Given the description of an element on the screen output the (x, y) to click on. 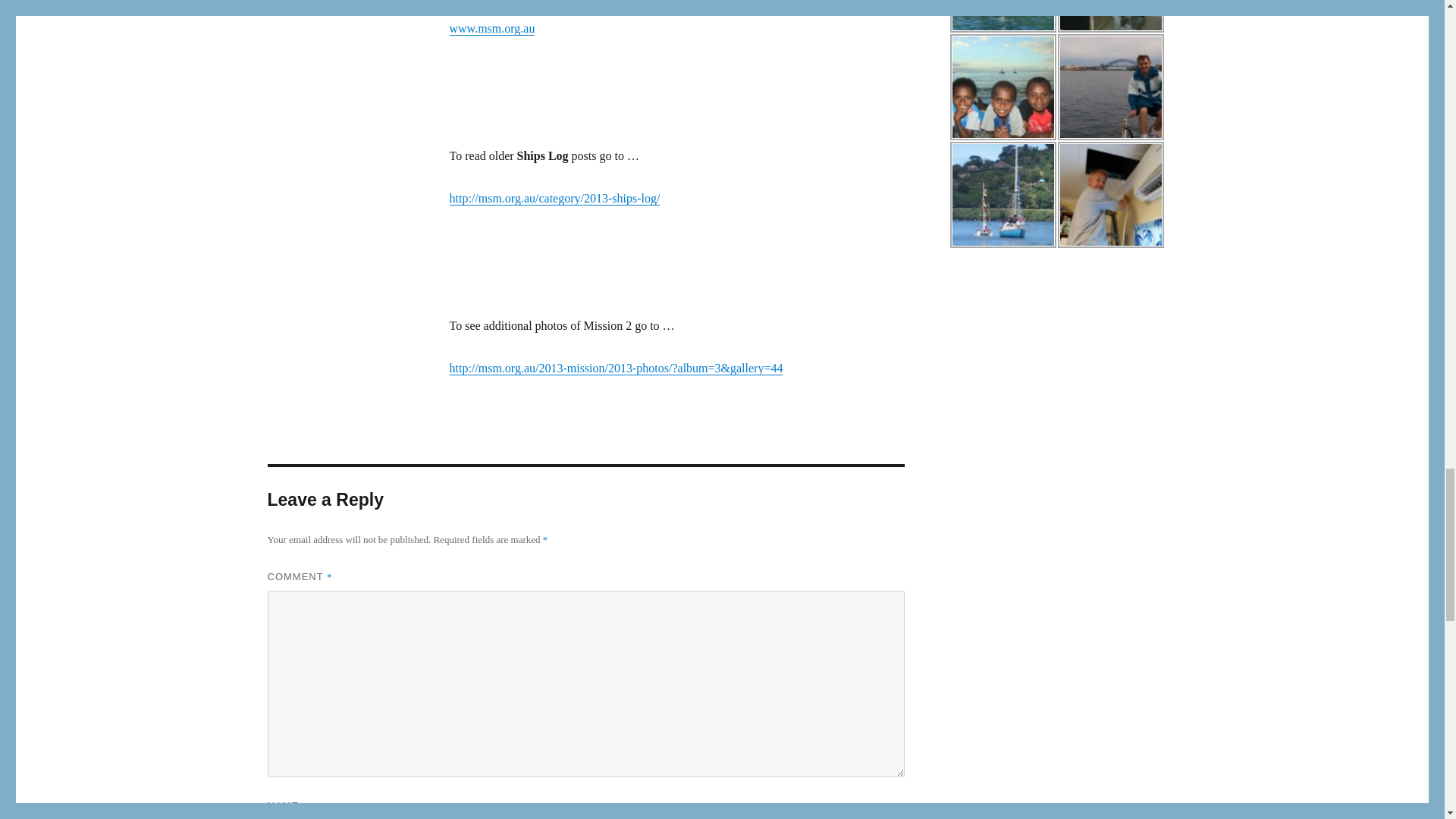
Waterfall bay3 (1002, 16)
Midwife Liane in the delivery room (1110, 16)
